Given the description of an element on the screen output the (x, y) to click on. 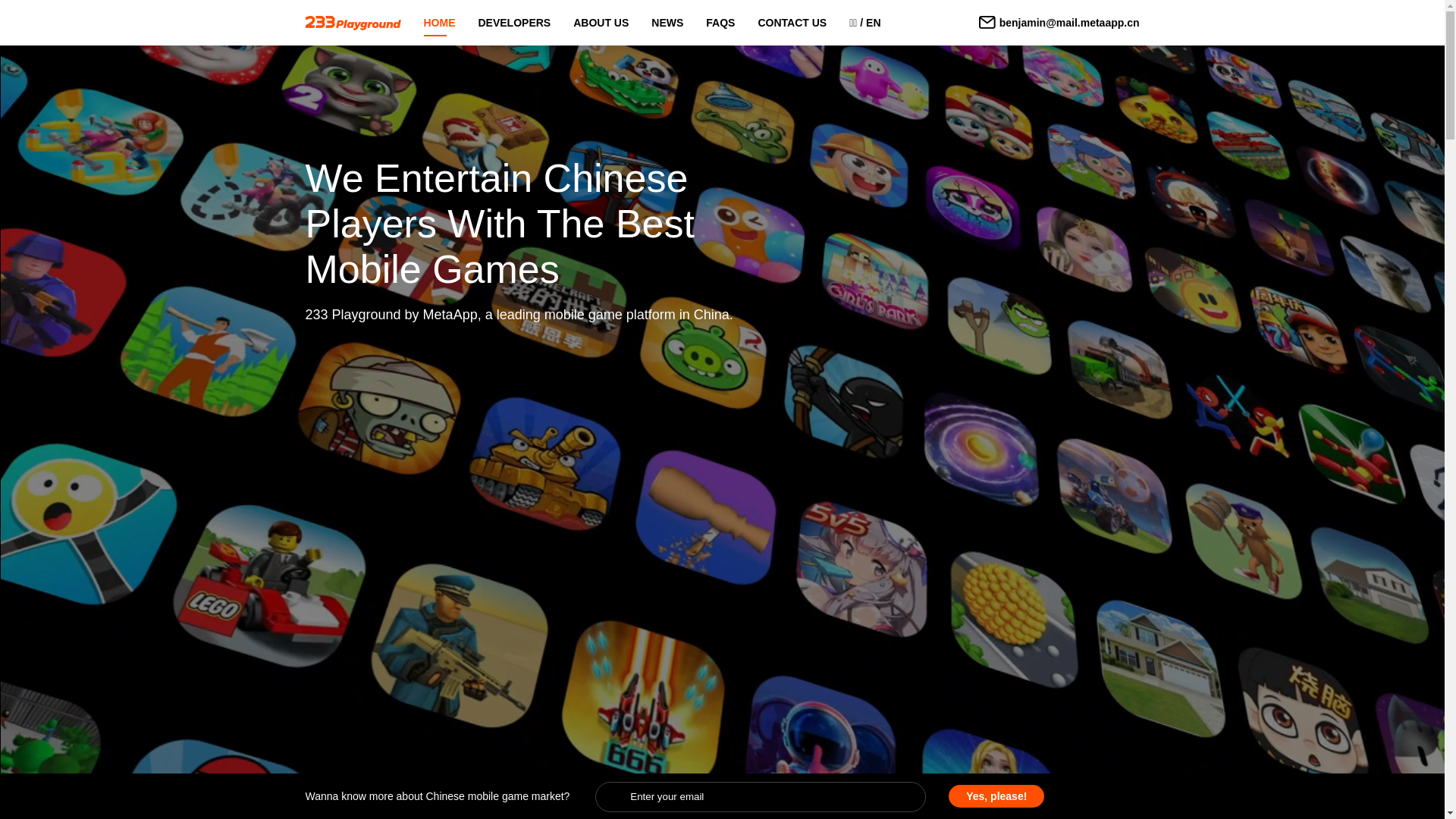
FAQS Element type: text (720, 26)
NEWS Element type: text (667, 26)
DEVELOPERS Element type: text (513, 26)
ABOUT US Element type: text (600, 26)
CONTACT US Element type: text (791, 26)
HOME Element type: text (439, 26)
